Given the description of an element on the screen output the (x, y) to click on. 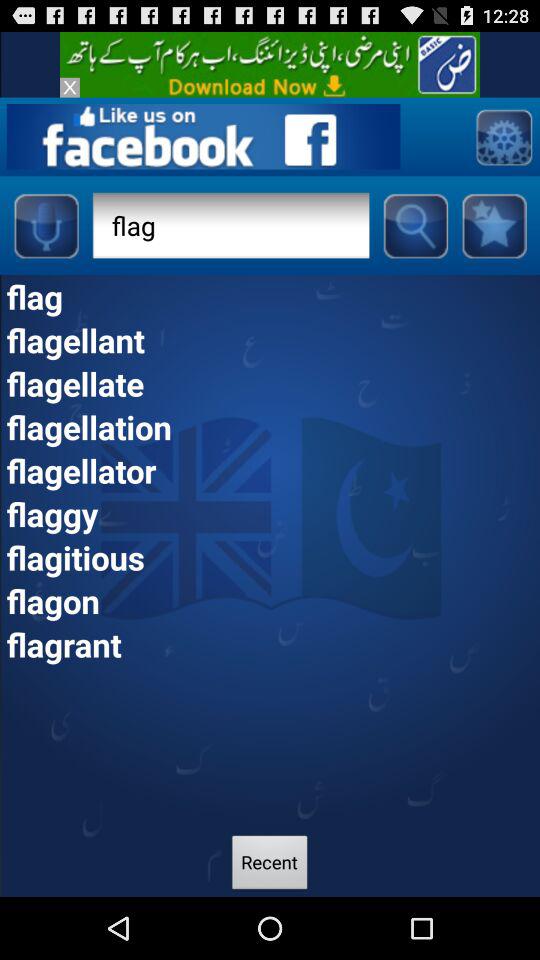
go to settings (503, 136)
